Given the description of an element on the screen output the (x, y) to click on. 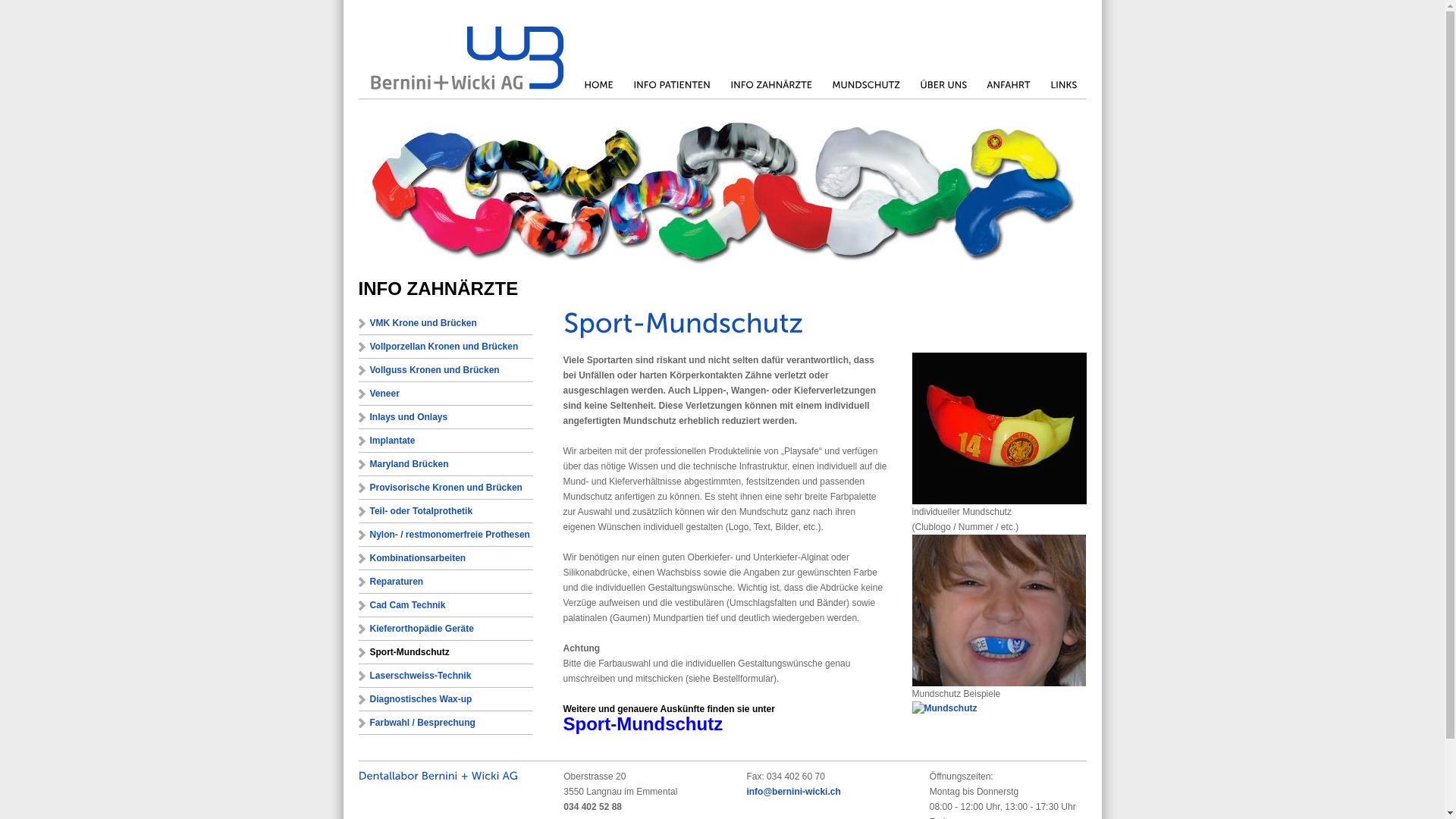
Reparaturen Element type: text (444, 581)
Kombinationsarbeiten Element type: text (444, 558)
Teil- oder Totalprothetik Element type: text (444, 511)
Implantate Element type: text (444, 440)
Diagnostisches Wax-up Element type: text (444, 699)
Cad Cam Technik Element type: text (444, 605)
Sport-Mundschutz Element type: text (444, 652)
info@bernini-wicki.ch Element type: text (793, 791)
Veneer Element type: text (444, 393)
Laserschweiss-Technik Element type: text (444, 675)
Nylon- / restmonomerfreie Prothesen Element type: text (444, 534)
Sport-Mundschutz Element type: text (642, 726)
Inlays und Onlays Element type: text (444, 417)
Farbwahl / Besprechung Element type: text (444, 722)
